Given the description of an element on the screen output the (x, y) to click on. 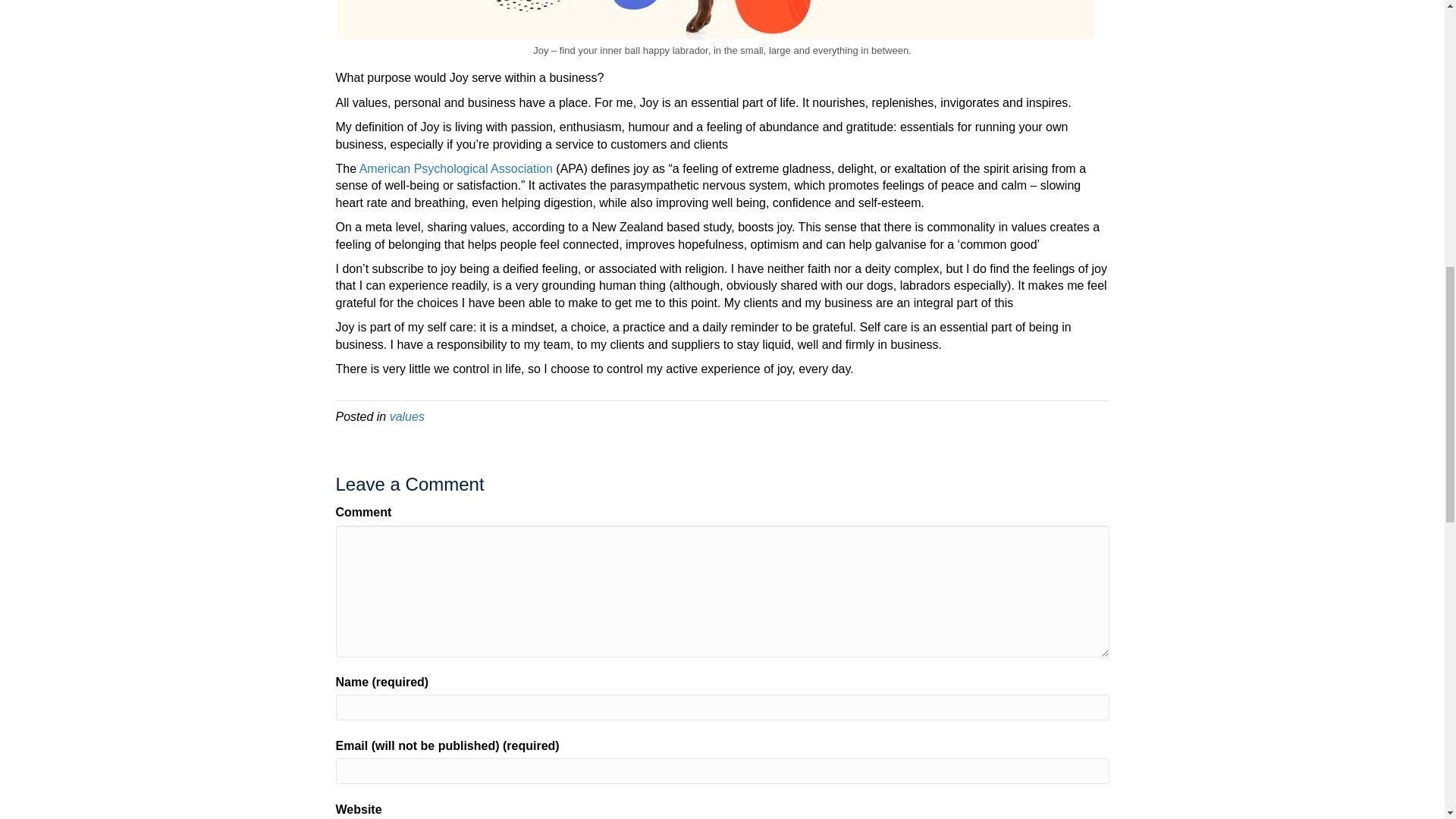
values (407, 416)
 American Psychological Association (454, 168)
